Given the description of an element on the screen output the (x, y) to click on. 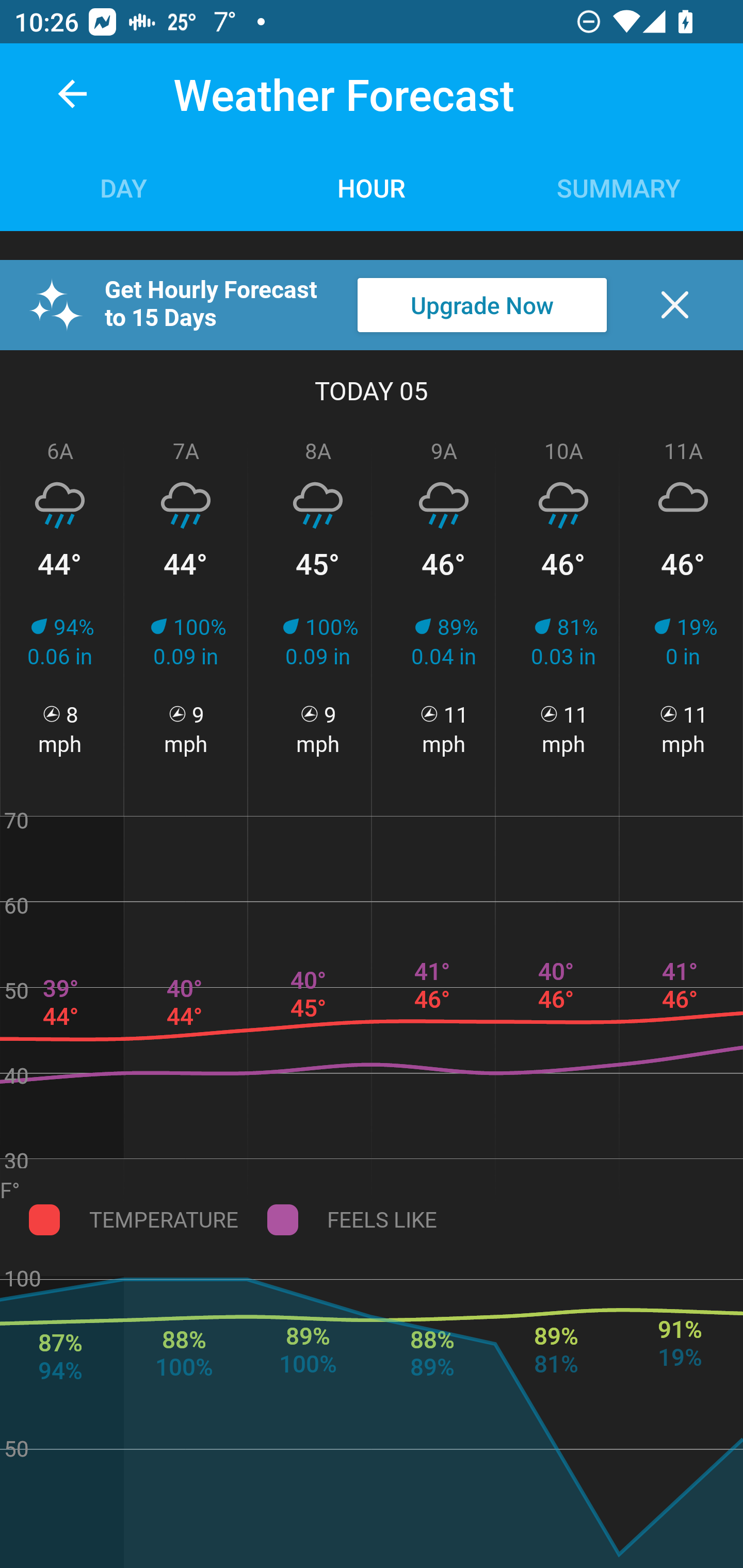
back (71, 93)
Day Tab DAY (123, 187)
Summary Tab SUMMARY (619, 187)
Upgrade Now (482, 304)
